Given the description of an element on the screen output the (x, y) to click on. 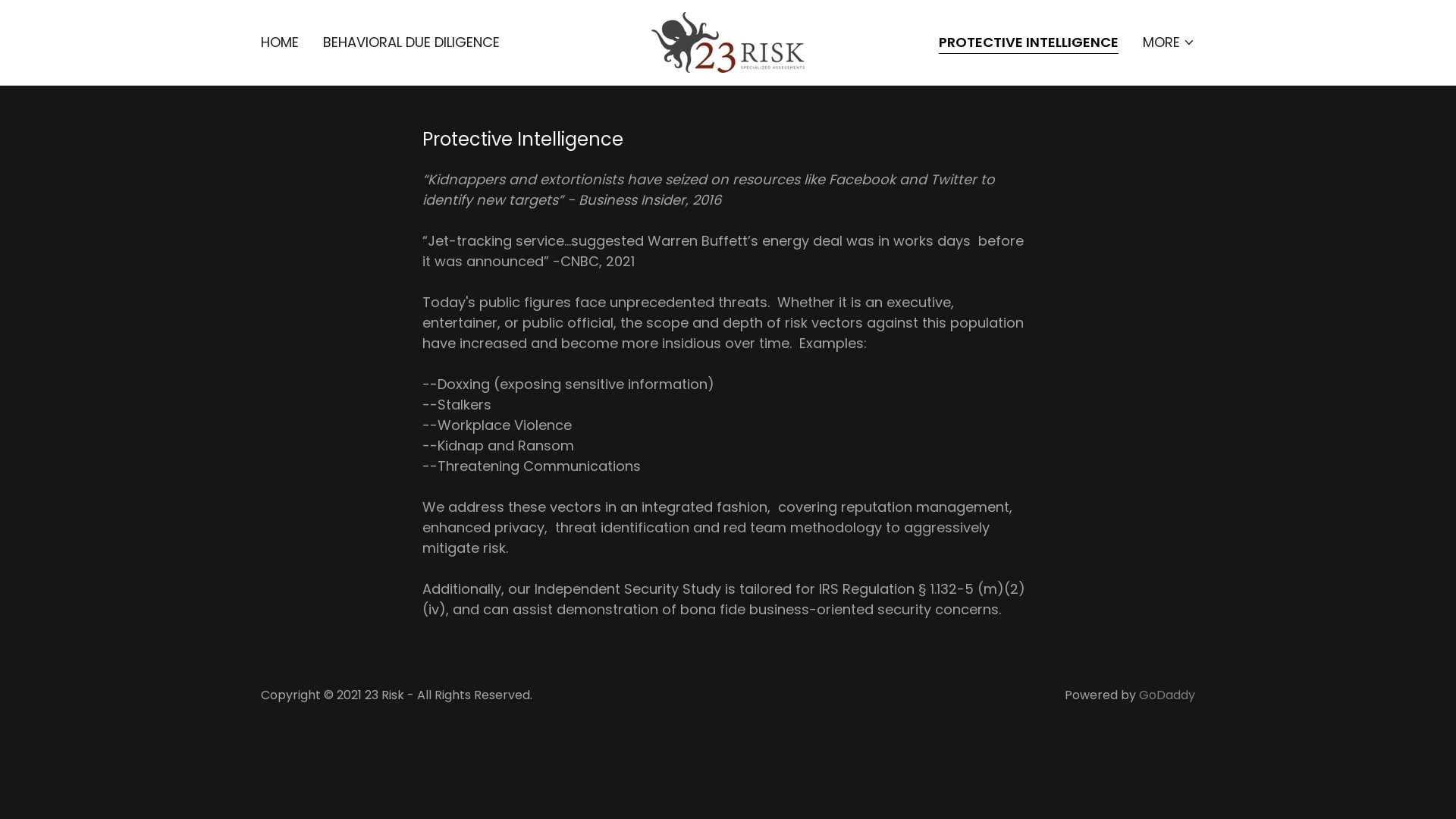
HOME Element type: text (279, 42)
BEHAVIORAL DUE DILIGENCE Element type: text (411, 42)
GoDaddy Element type: text (1167, 694)
MORE Element type: text (1168, 42)
23 Risk Element type: hover (727, 40)
PROTECTIVE INTELLIGENCE Element type: text (1028, 43)
